Given the description of an element on the screen output the (x, y) to click on. 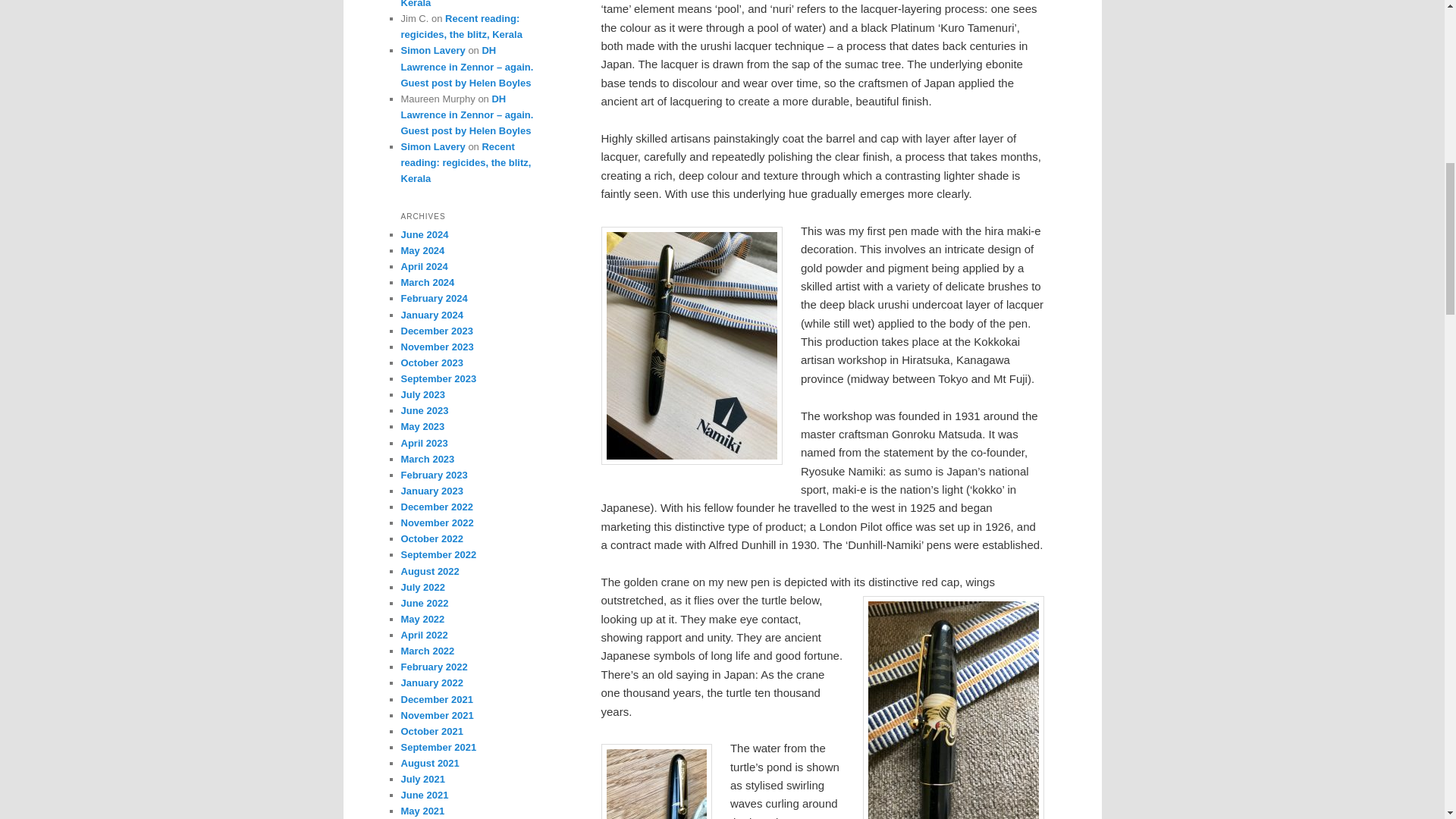
Recent reading: regicides, the blitz, Kerala (465, 162)
Recent reading: regicides, the blitz, Kerala (460, 26)
Recent reading: regicides, the blitz, Kerala (465, 4)
Simon Lavery (432, 146)
Simon Lavery (432, 50)
June 2024 (424, 234)
